Given the description of an element on the screen output the (x, y) to click on. 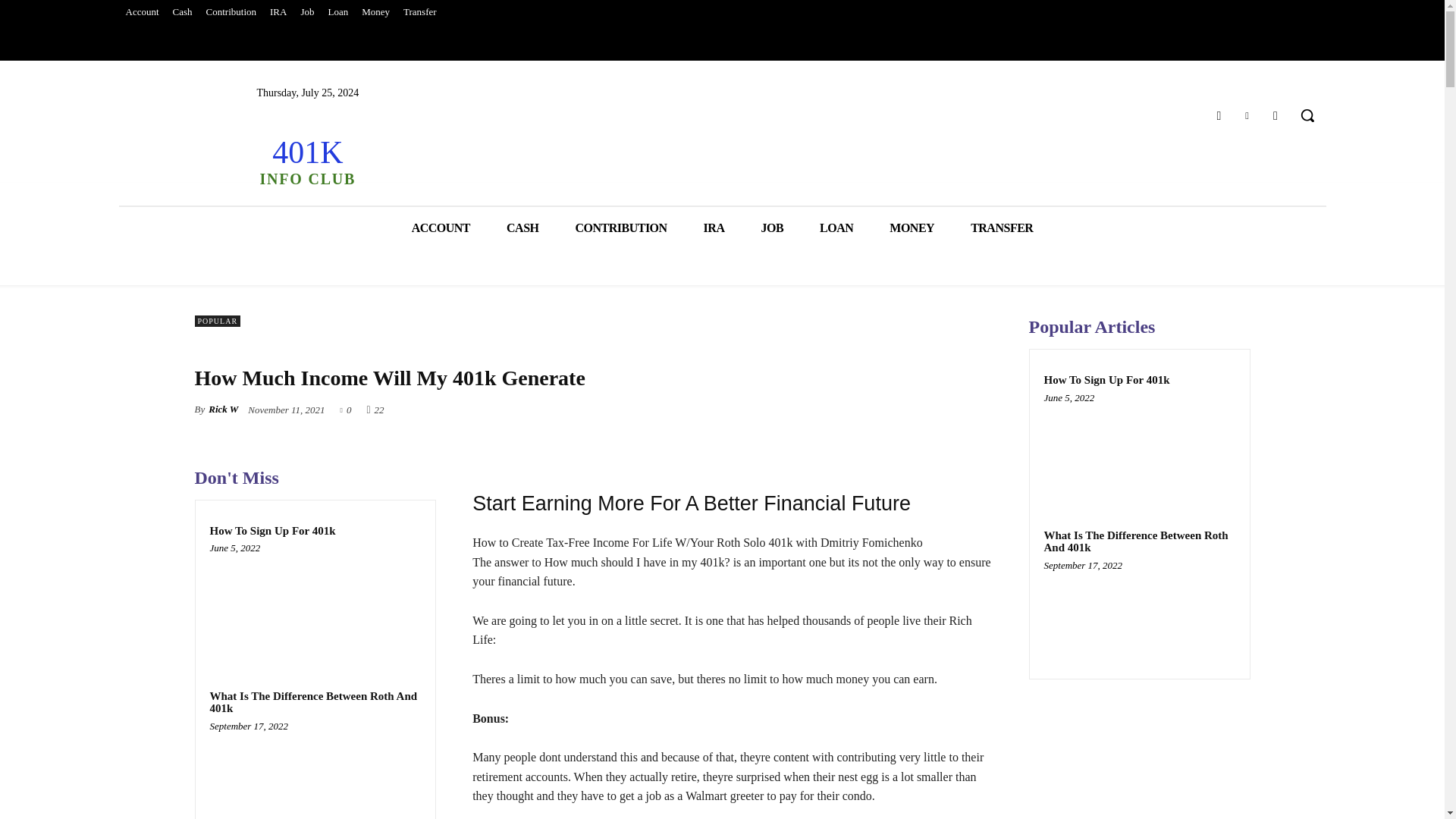
Facebook (1218, 115)
Loan (337, 12)
LOAN (836, 227)
IRA (713, 227)
MONEY (911, 227)
Transfer (420, 12)
Account (141, 12)
JOB (772, 227)
How To Sign Up For 401k (271, 530)
IRA (278, 12)
Youtube (1275, 115)
Cash (182, 12)
How To Sign Up For 401k (314, 603)
Job (307, 12)
